Given the description of an element on the screen output the (x, y) to click on. 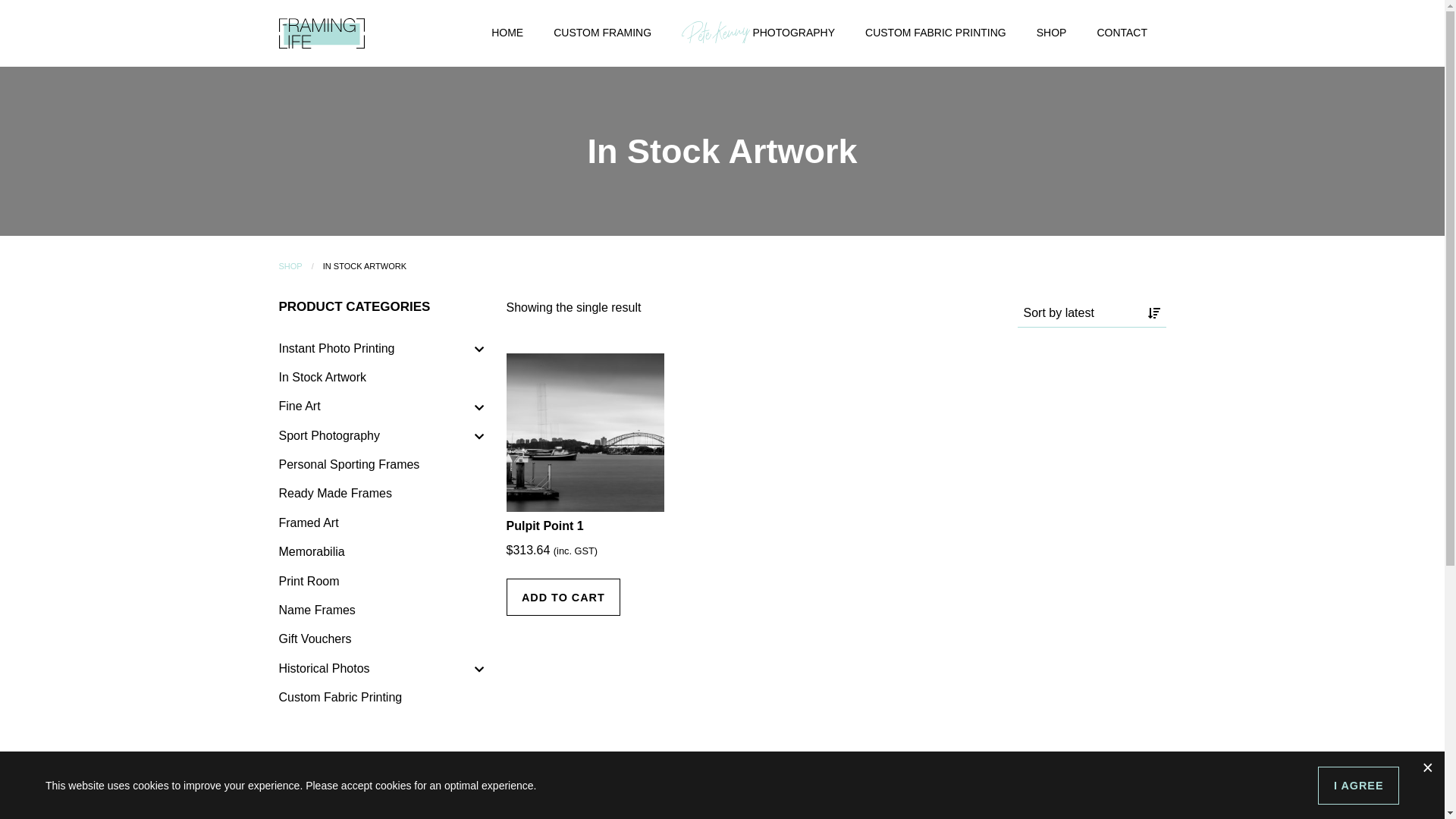
Fine Art Element type: text (381, 406)
Framing Life Element type: hover (321, 31)
HOME Element type: text (507, 32)
Memorabilia Element type: text (381, 551)
Framed Art Element type: text (381, 522)
SHOP Element type: text (290, 265)
Personal Sporting Frames Element type: text (381, 464)
CONTACT Element type: text (1121, 32)
Name Frames Element type: text (381, 610)
ADD TO CART Element type: text (563, 597)
Pulpit Point 1
$313.64 (inc. GST) Element type: text (585, 516)
Historical Photos Element type: text (381, 667)
Ready Made Frames Element type: text (381, 493)
CUSTOM FRAMING Element type: text (602, 32)
SHOP Element type: text (1051, 32)
CUSTOM FABRIC PRINTING Element type: text (935, 32)
PHOTOGRAPHY Element type: text (757, 32)
Sport Photography Element type: text (381, 435)
Gift Vouchers Element type: text (381, 638)
Custom Fabric Printing Element type: text (381, 697)
Print Room Element type: text (381, 580)
Instant Photo Printing Element type: text (381, 347)
I AGREE Element type: text (1358, 784)
In Stock Artwork Element type: text (381, 377)
